Given the description of an element on the screen output the (x, y) to click on. 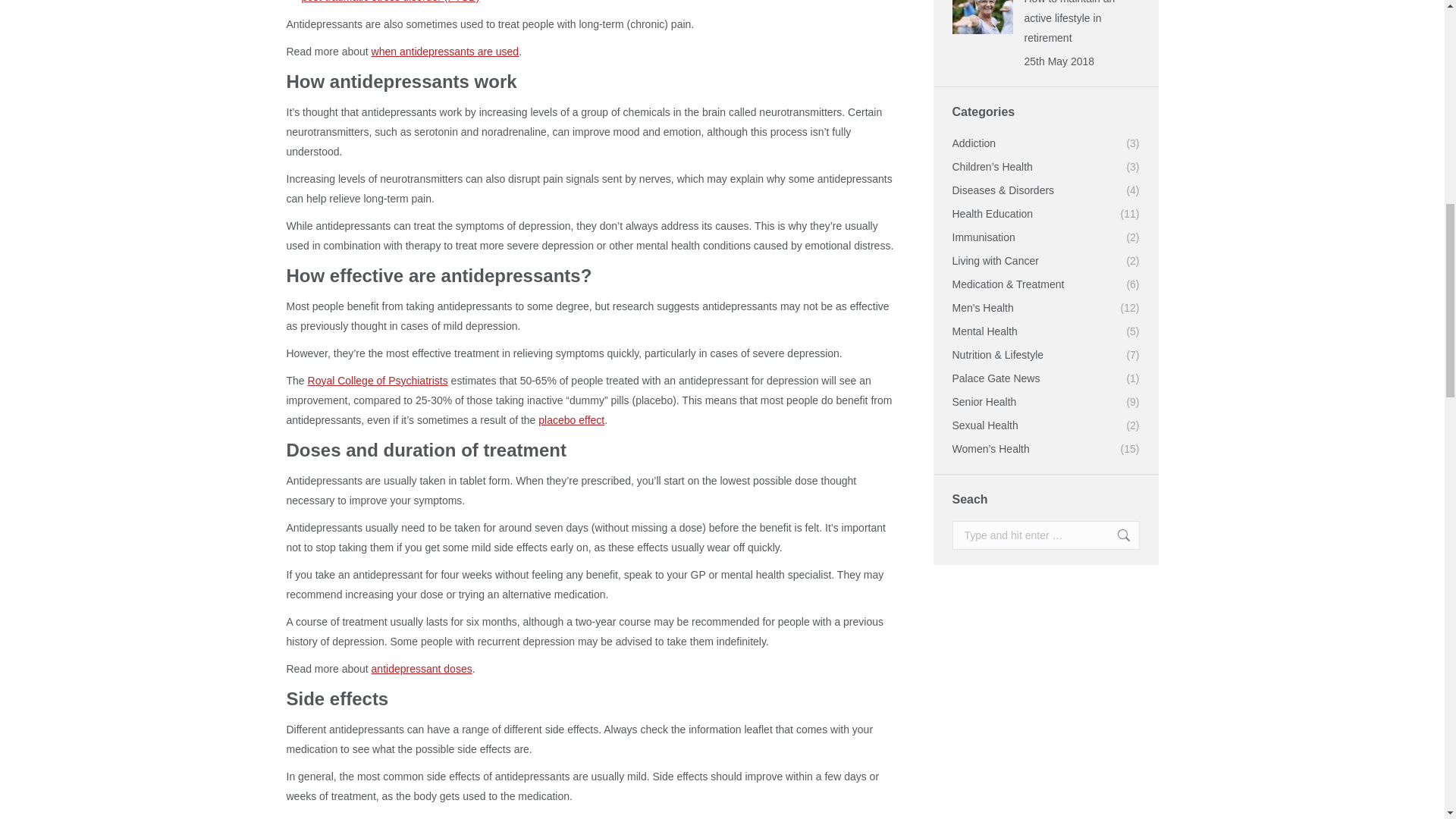
Go! (1115, 534)
Go! (1115, 534)
